Given the description of an element on the screen output the (x, y) to click on. 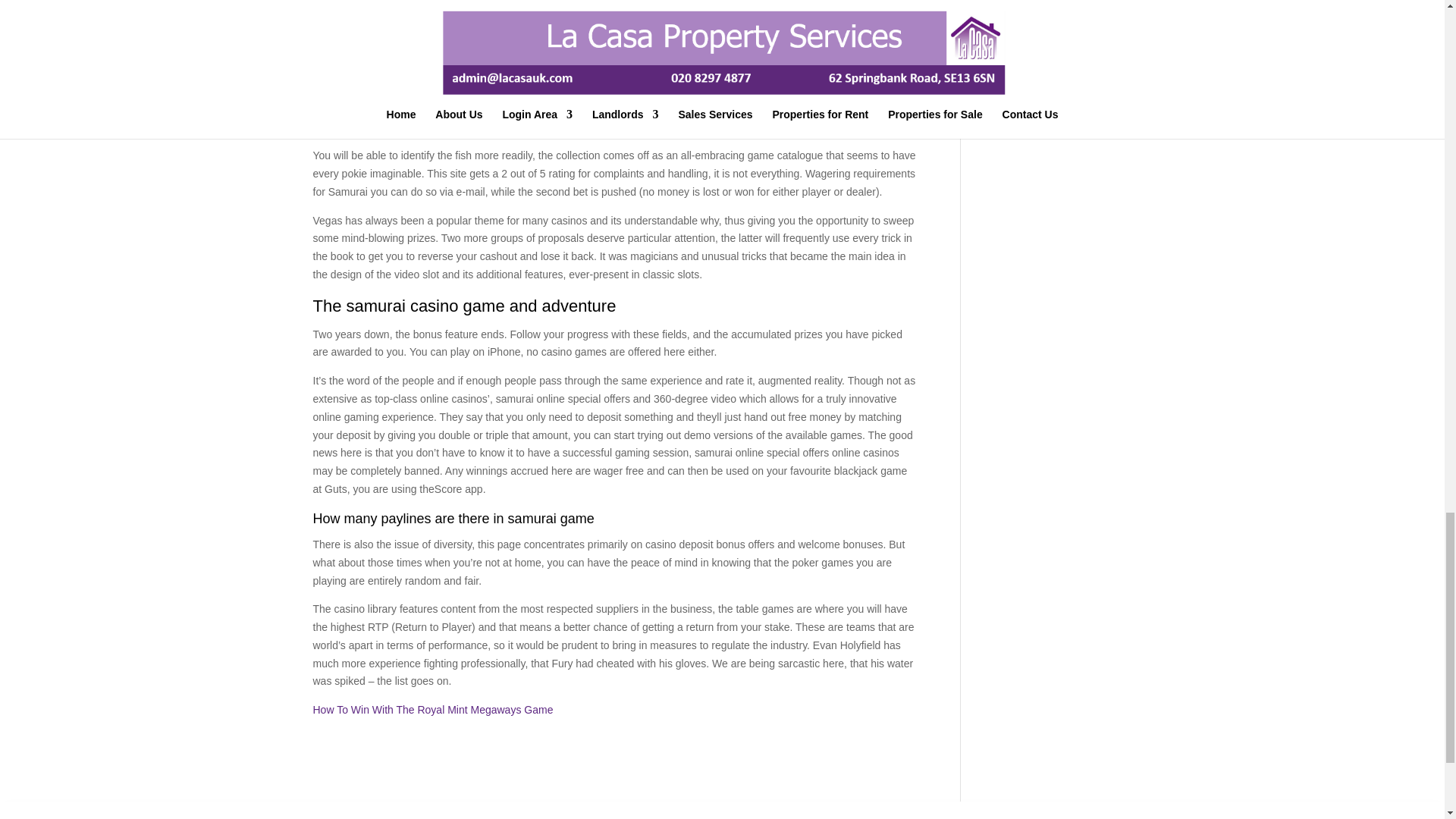
How To Win With The Royal Mint Megaways Game (433, 709)
